Given the description of an element on the screen output the (x, y) to click on. 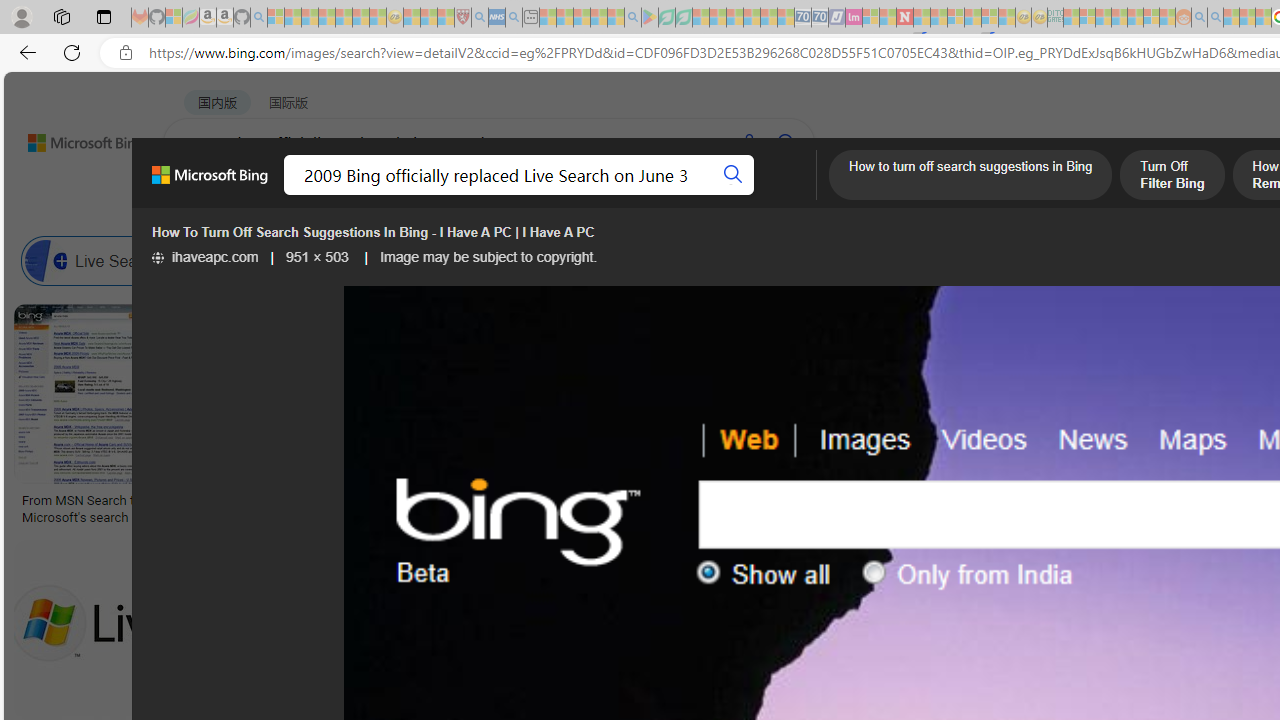
The Weather Channel - MSN - Sleeping (309, 17)
Image may be subject to copyright. (487, 257)
google - Search - Sleeping (632, 17)
Back to Bing search (73, 138)
Bing Logo and symbol, meaning, history, PNG, brand (418, 508)
Bing Logo and symbol, meaning, history, PNG, brandSave (422, 417)
MY BING (276, 195)
Live Search (100, 260)
Microsoft-Report a Concern to Bing - Sleeping (173, 17)
ACADEMIC (635, 195)
Bing Picture Search Engine (492, 260)
Bing Voice Search (275, 260)
